Given the description of an element on the screen output the (x, y) to click on. 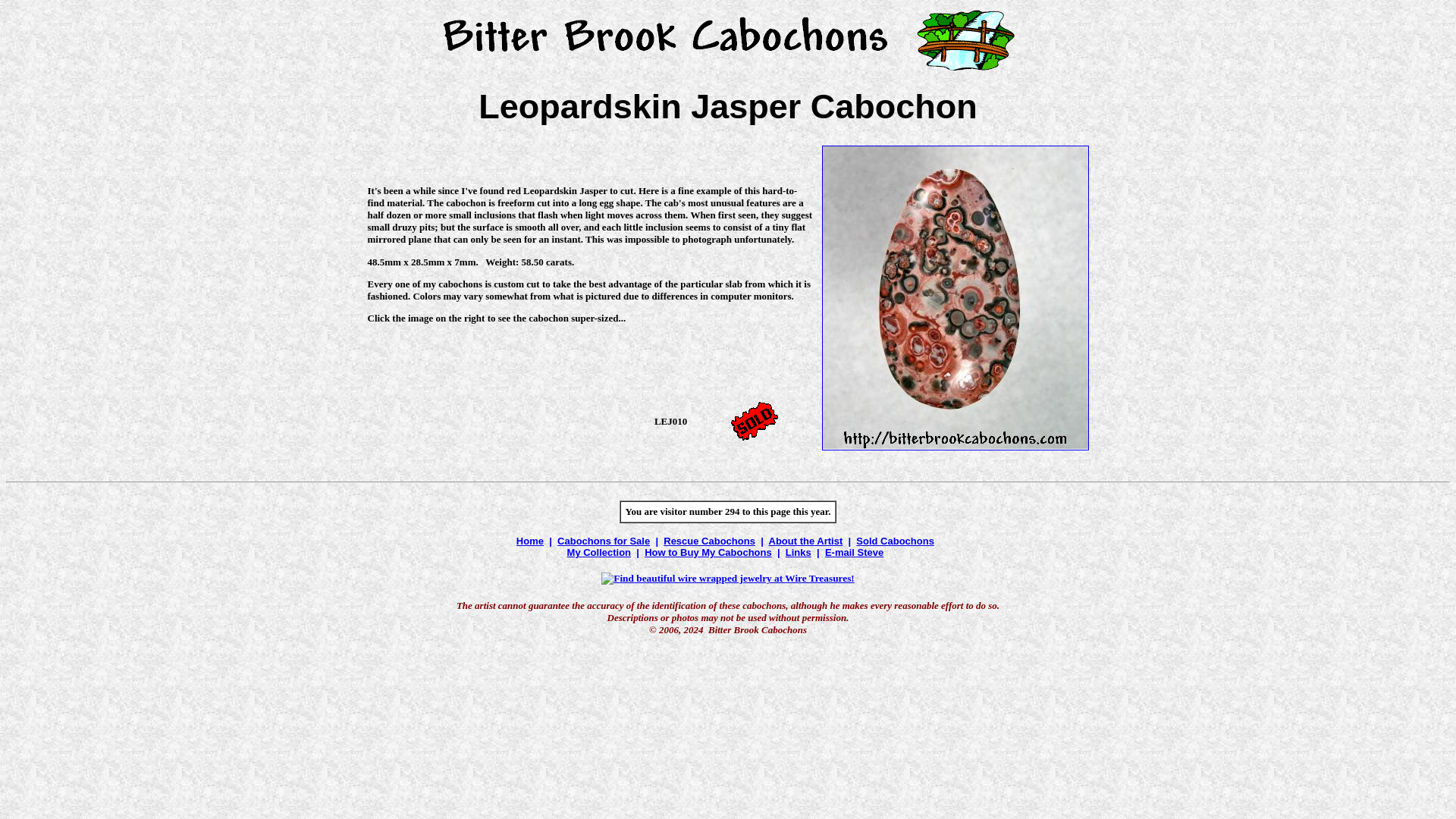
Links (798, 552)
Cabochons for Sale (603, 541)
Home (529, 541)
About the Artist (805, 541)
My Collection (599, 552)
Rescue Cabochons (709, 541)
E-mail Steve (854, 552)
How to Buy My Cabochons (708, 552)
Sold Cabochons (895, 541)
